Given the description of an element on the screen output the (x, y) to click on. 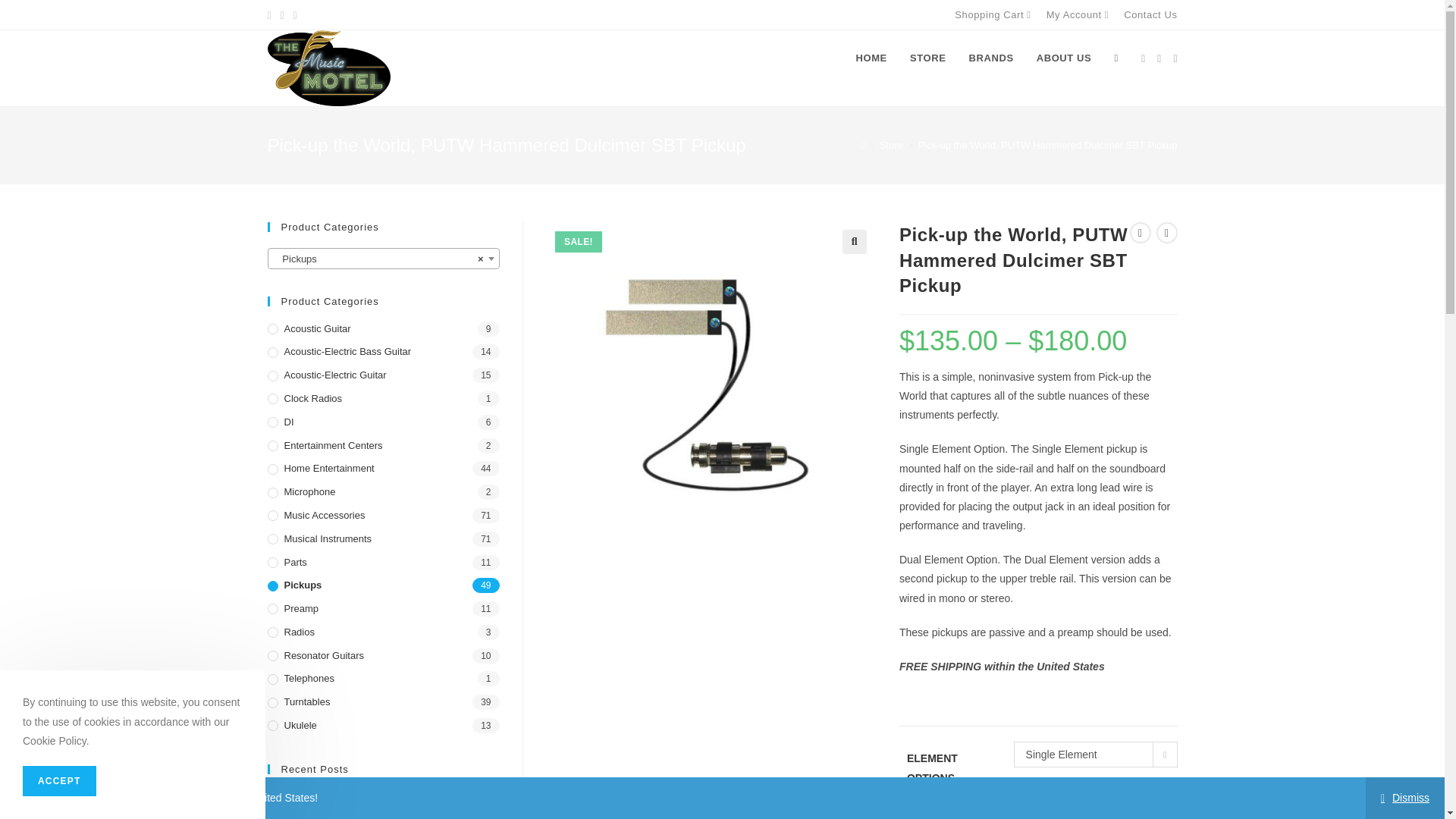
STORE (928, 58)
PUTW Hammered Dulcimer Pickup (710, 385)
ABOUT US (1064, 58)
HOME (871, 58)
Shopping Cart (994, 14)
BRANDS (990, 58)
Contact Us (1150, 14)
My Account (1079, 14)
